Given the description of an element on the screen output the (x, y) to click on. 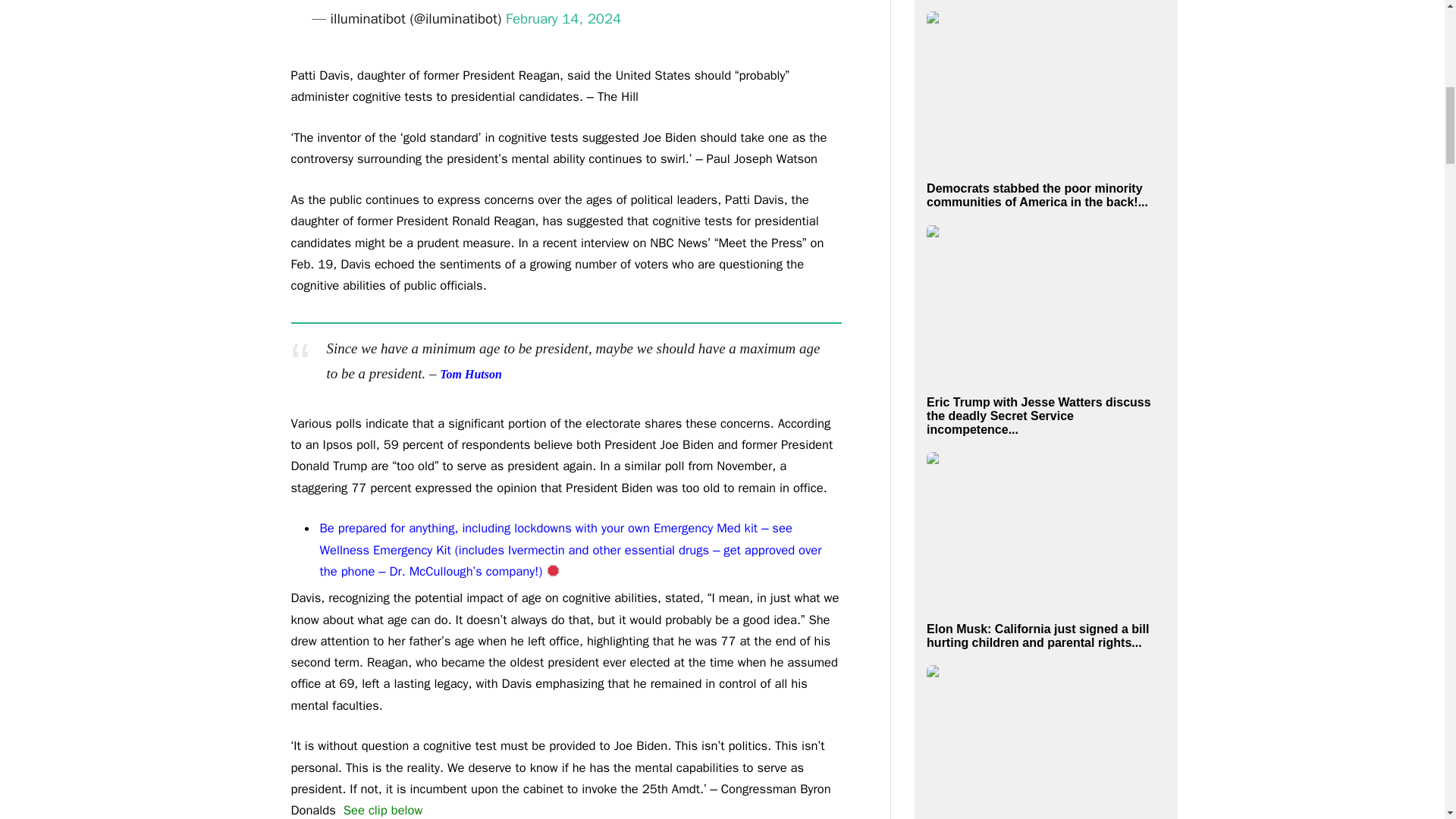
Tom Hutson (470, 373)
February 14, 2024 (563, 18)
